Given the description of an element on the screen output the (x, y) to click on. 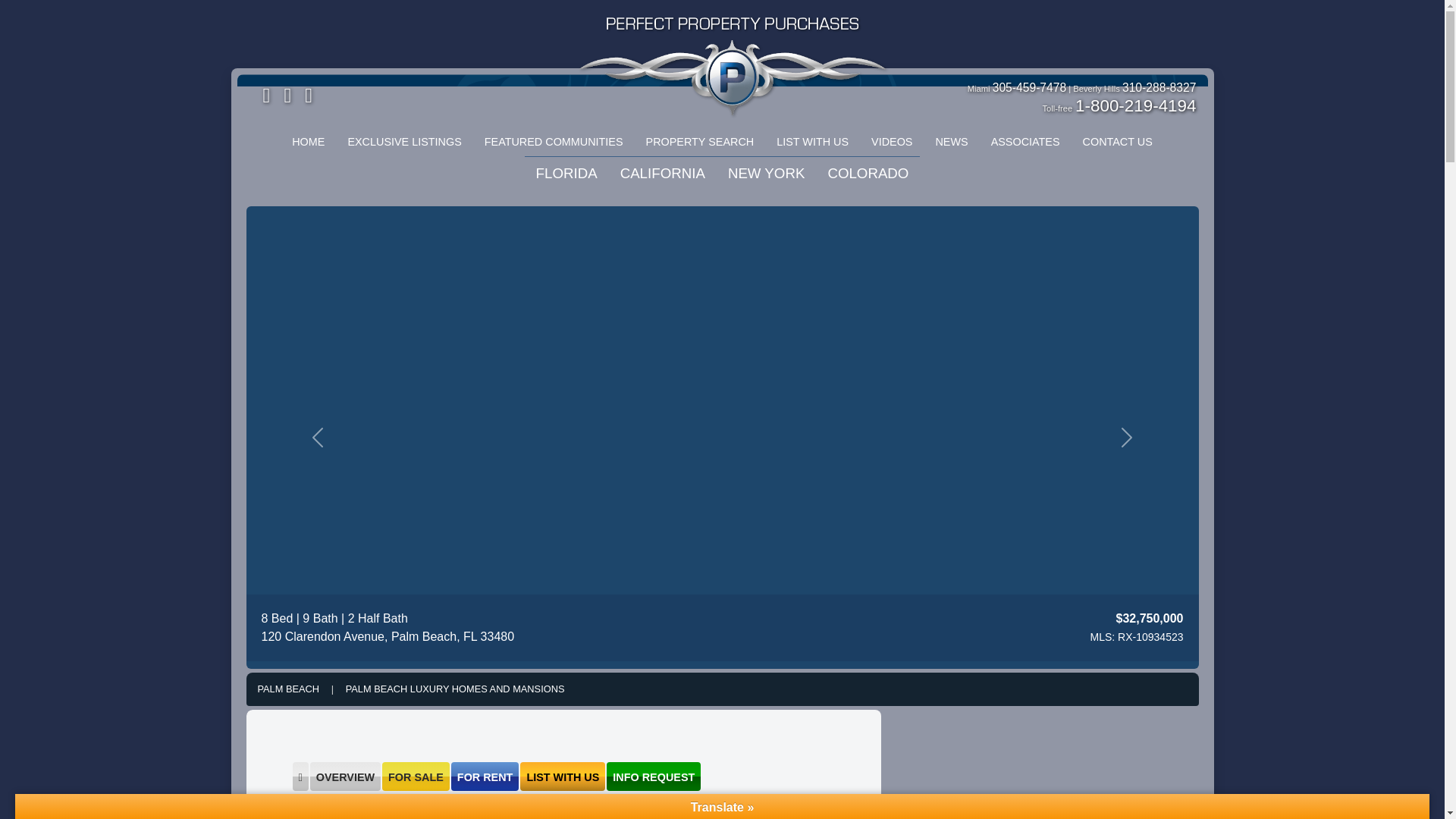
310-288-8327 (1159, 87)
Palm Beach Luxury Homes and Mansions - Overview (455, 688)
NEW YORK (766, 173)
View Palm Beach Communities (300, 776)
FLORIDA (566, 173)
305-459-7478 (1029, 87)
1-800-219-4194 (1135, 105)
FEATURED COMMUNITIES (553, 142)
ASSOCIATES (1025, 142)
PROPERTY SEARCH (699, 142)
William Pierce Luxury Real Estate (733, 32)
NEWS (950, 142)
CALIFORNIA (662, 173)
COLORADO (867, 173)
VIDEOS (891, 142)
